Given the description of an element on the screen output the (x, y) to click on. 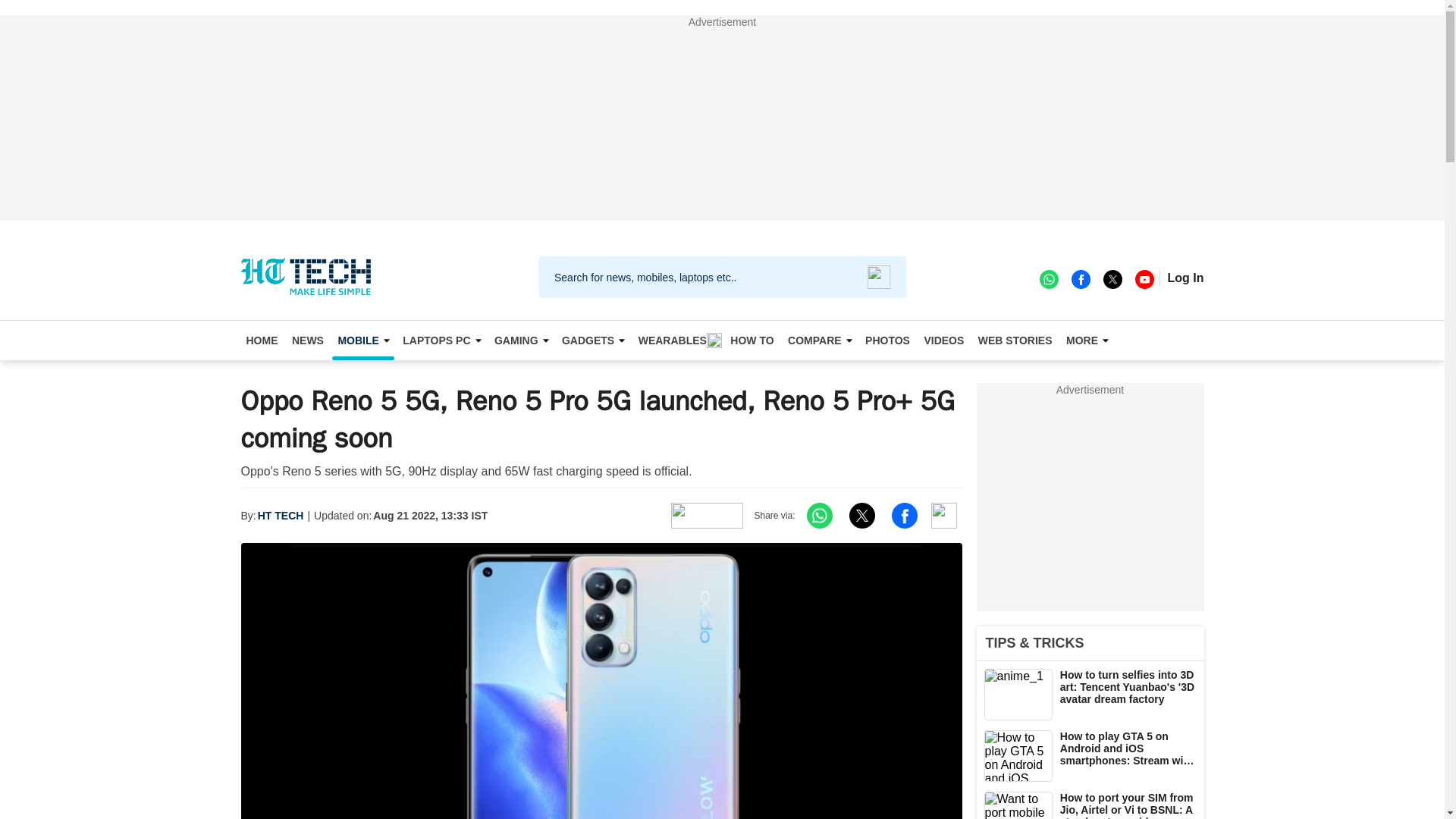
GADGETS (592, 340)
NEWS (307, 340)
WEARABLES (677, 340)
Get to know more about News from India and around the world. (307, 340)
Login (1185, 277)
LAPTOPS PC (440, 340)
twitter (1111, 278)
GAMING (521, 340)
HOME (262, 340)
facebook (1079, 278)
MOBILE (362, 340)
COMPARE (820, 340)
